Given the description of an element on the screen output the (x, y) to click on. 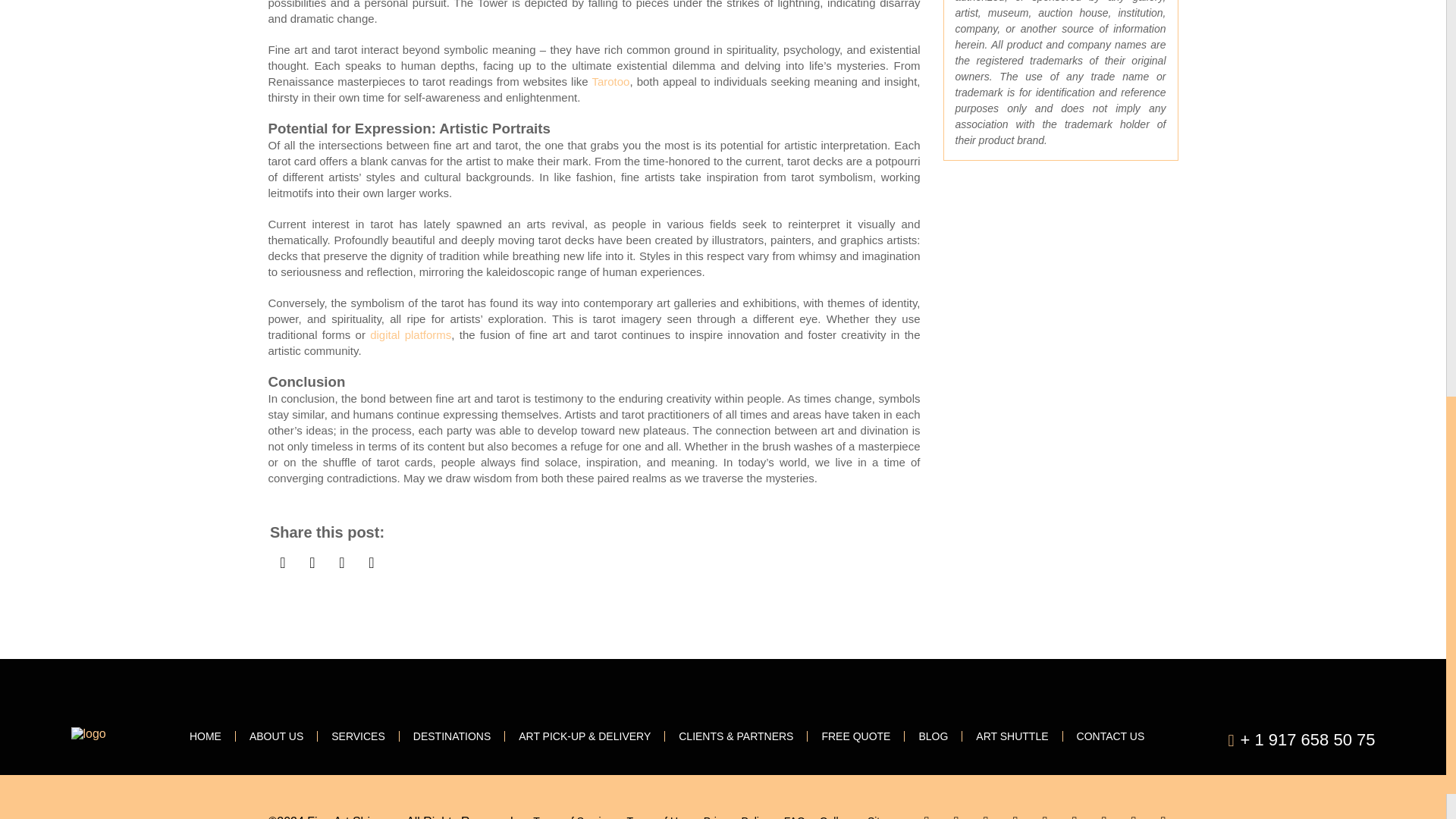
Official Twitter accounts (956, 813)
Official Reddit accounts (1134, 813)
Official Facebook page (925, 813)
Official Instagram accounts (1103, 813)
Share on LinkedIn (342, 561)
Official Pinterest accounts (1016, 813)
Tarotoo (609, 81)
Tweet (311, 561)
Share on Facebook (283, 561)
Email (371, 561)
Official Linkedin profile (1074, 813)
digital platforms (410, 334)
Official Youtube accounts (985, 813)
Official Quora accounts (1163, 813)
Official Yelp accounts (1044, 813)
